Given the description of an element on the screen output the (x, y) to click on. 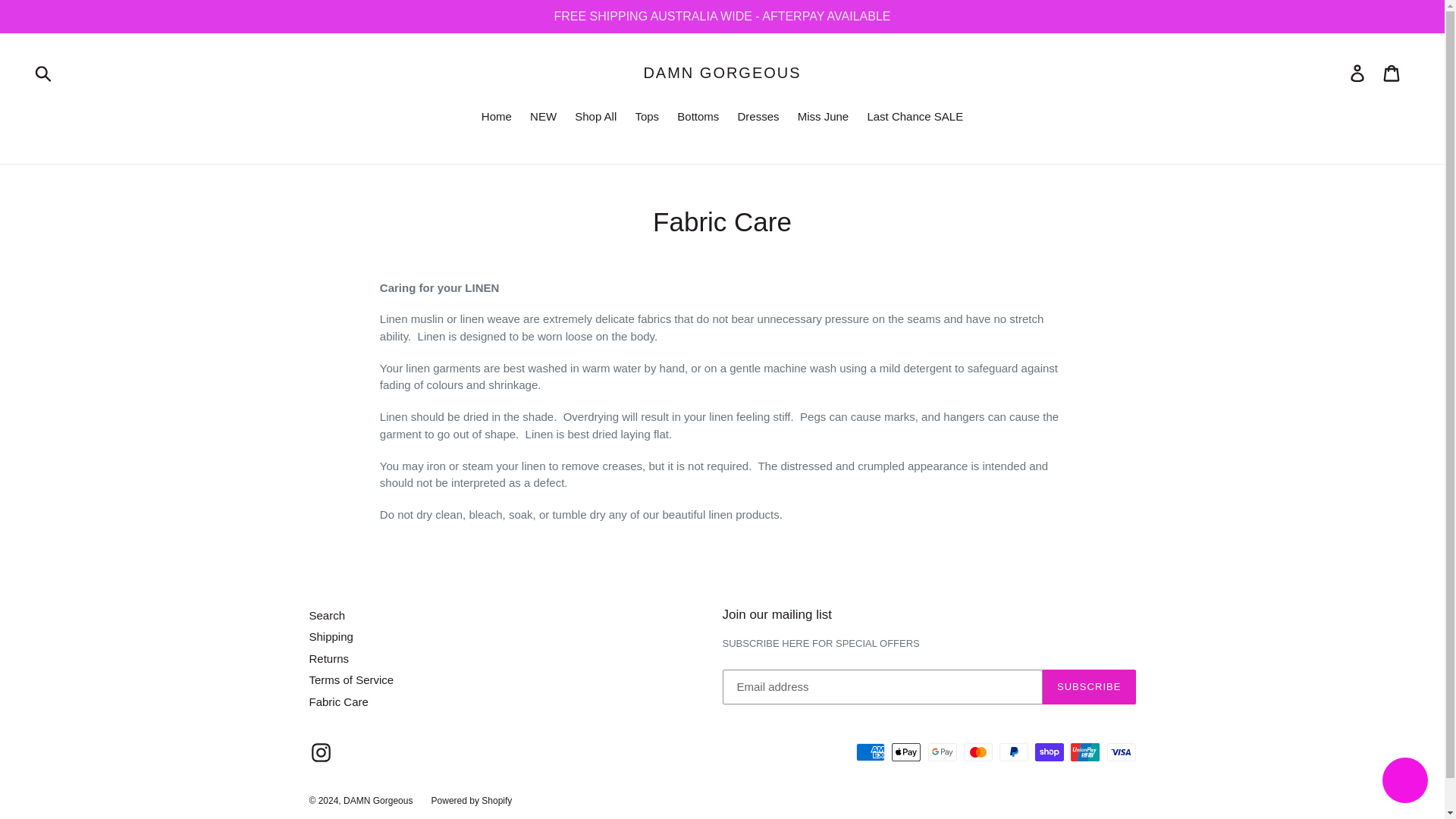
Miss June (823, 117)
Cart (1392, 72)
Submit (44, 72)
Bottoms (697, 117)
Search (327, 615)
Log in (1357, 72)
Shop All (595, 117)
Powered by Shopify (471, 800)
Fabric Care (338, 701)
NEW (543, 117)
